Given the description of an element on the screen output the (x, y) to click on. 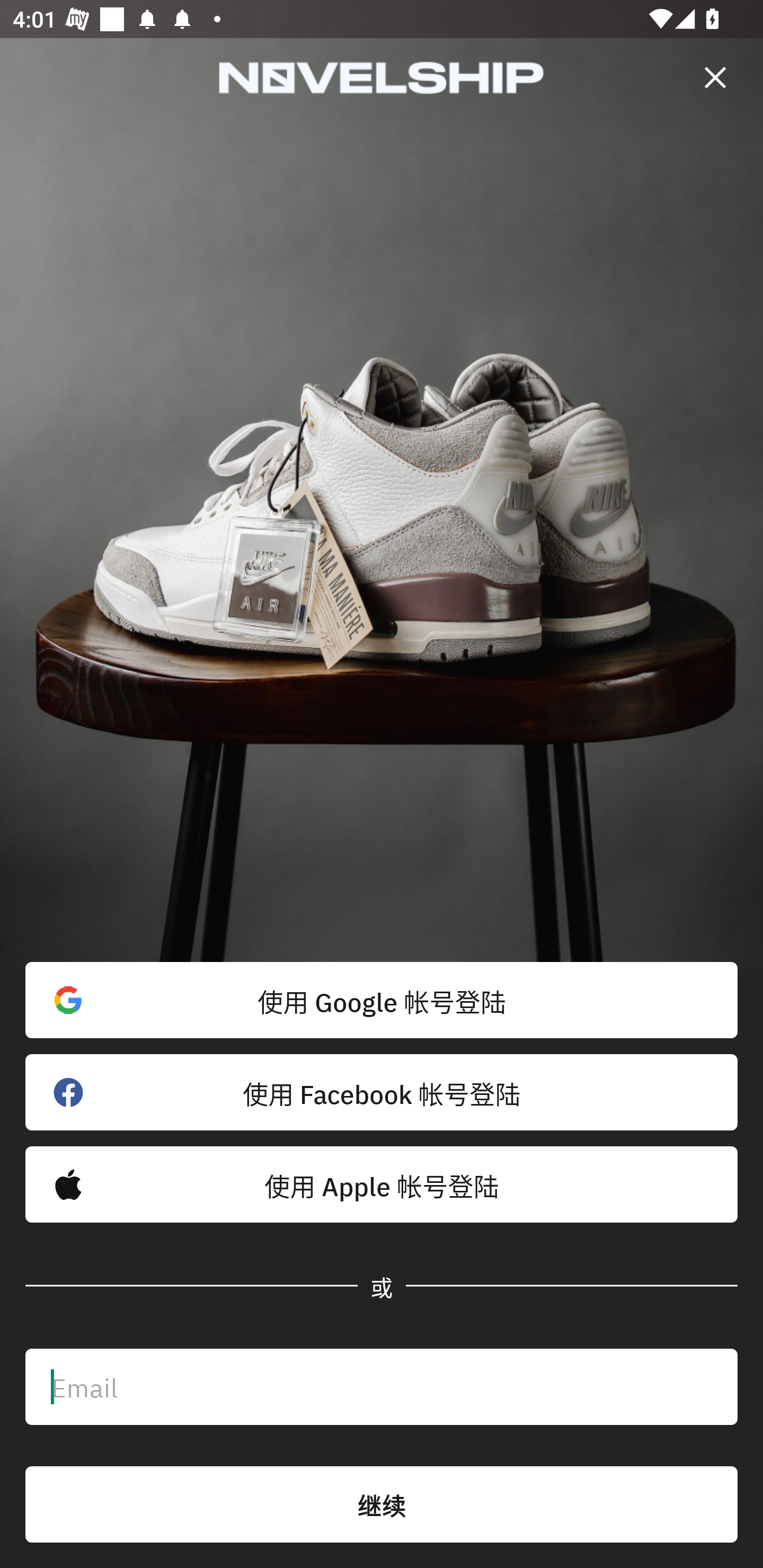
使用 Google 帐号登陆 (381, 1000)
使用 Facebook 帐号登陆 󰈌 (381, 1091)
 使用 Apple 帐号登陆 (381, 1184)
Email (381, 1386)
继续 (381, 1504)
